Given the description of an element on the screen output the (x, y) to click on. 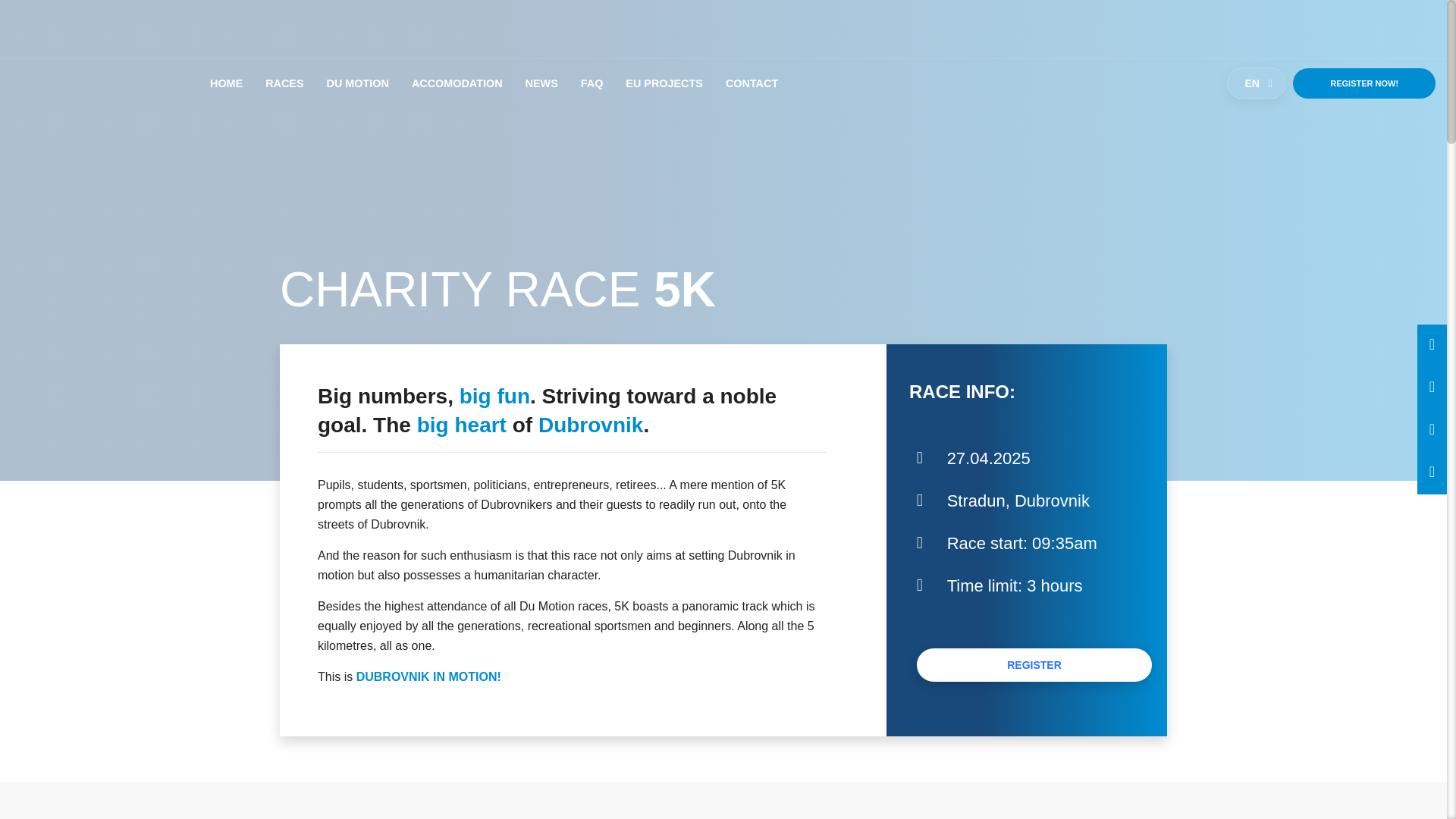
CONTACT (751, 83)
DU MOTION (1363, 82)
ACCOMODATION (357, 83)
FAQ (1034, 664)
NEWS (456, 83)
EU PROJECTS (592, 83)
HOME (541, 83)
RACES (664, 83)
